Given the description of an element on the screen output the (x, y) to click on. 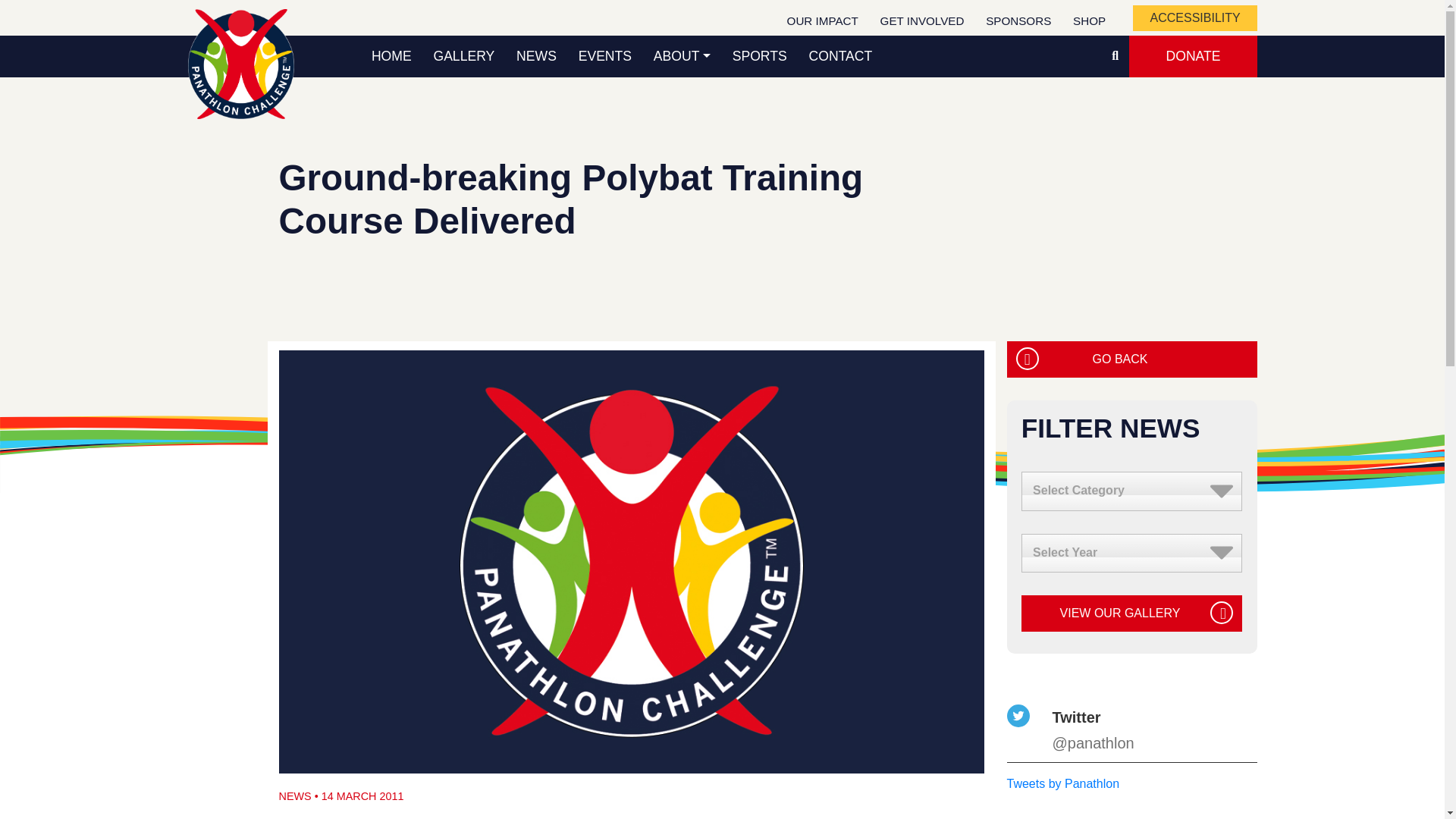
NEWS (536, 56)
OUR IMPACT (822, 21)
SPONSORS (1018, 21)
CONTACT (840, 56)
ABOUT (681, 56)
GALLERY (463, 56)
EVENTS (604, 56)
GET INVOLVED (922, 21)
HOME (392, 56)
SPORTS (758, 56)
SHOP (1089, 21)
